Given the description of an element on the screen output the (x, y) to click on. 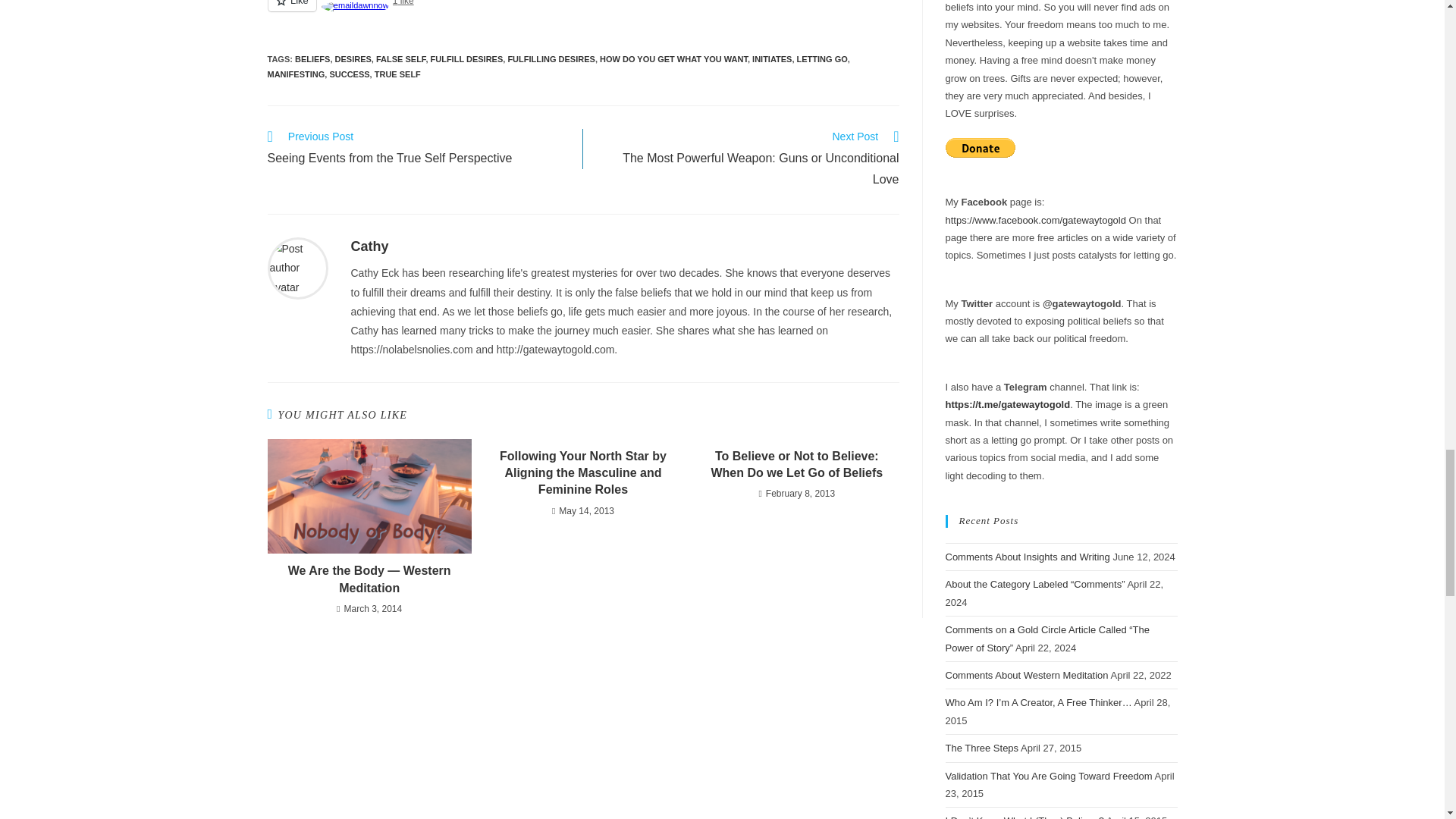
FULFILLING DESIRES (550, 58)
TRUE SELF (397, 73)
Cathy (369, 246)
Visit author page (296, 267)
HOW DO YOU GET WHAT YOU WANT (673, 58)
MANIFESTING (295, 73)
SUCCESS (349, 73)
BELIEFS (312, 58)
INITIATES (772, 58)
Visit author page (369, 246)
LETTING GO (821, 58)
Like or Reblog (416, 148)
To Believe or Not to Believe: When Do we Let Go of Beliefs (582, 14)
DESIRES (796, 464)
